Given the description of an element on the screen output the (x, y) to click on. 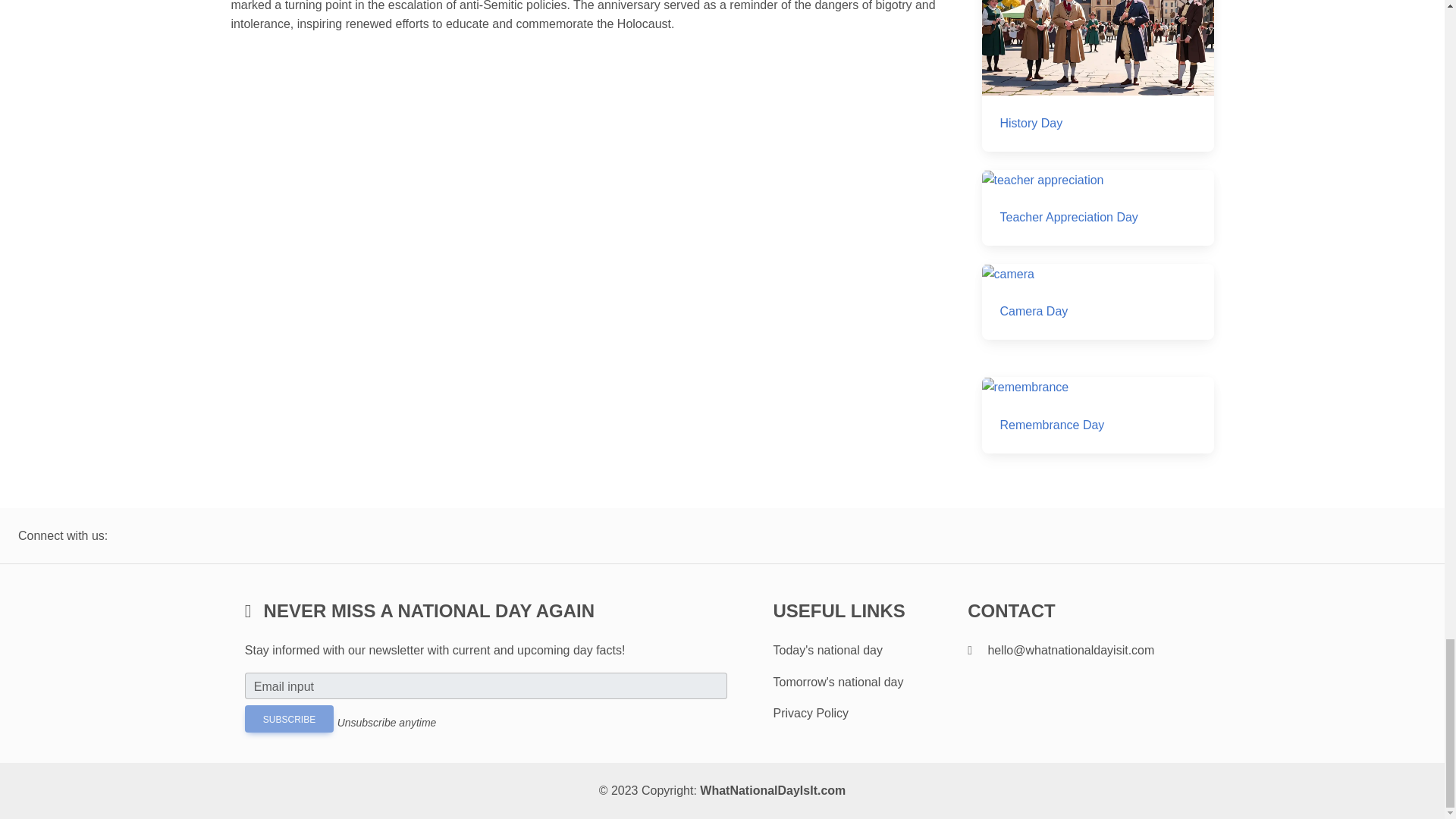
Today's national day (827, 649)
History Day (1096, 75)
Privacy Policy (810, 712)
WhatNationalDayIsIt.com (772, 789)
Remembrance Day (1096, 414)
SUBSCRIBE (288, 718)
Camera Day (1096, 301)
Teacher Appreciation Day (1096, 207)
Tomorrow's national day (837, 681)
